Given the description of an element on the screen output the (x, y) to click on. 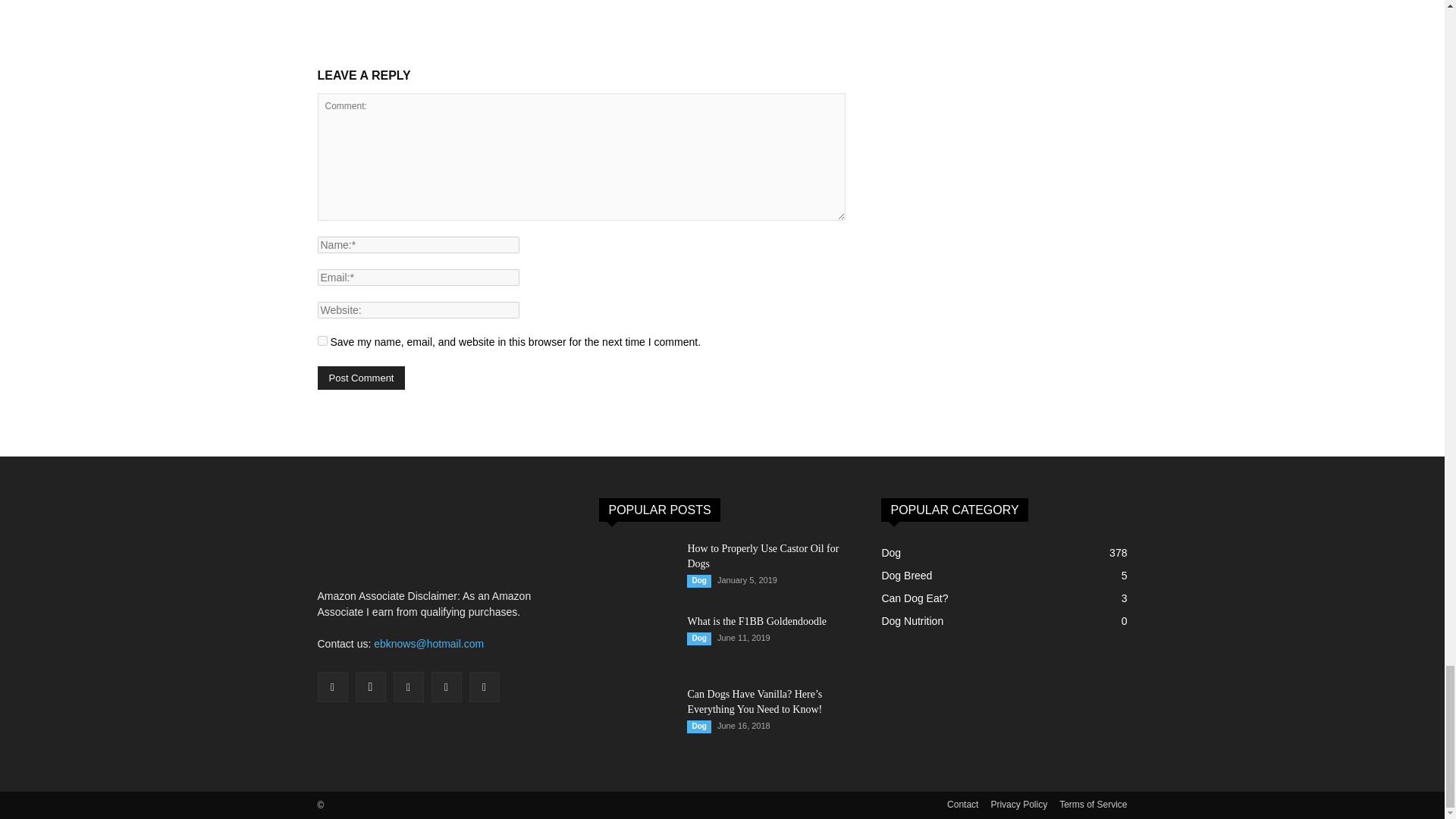
Post Comment (360, 377)
yes (321, 340)
